Given the description of an element on the screen output the (x, y) to click on. 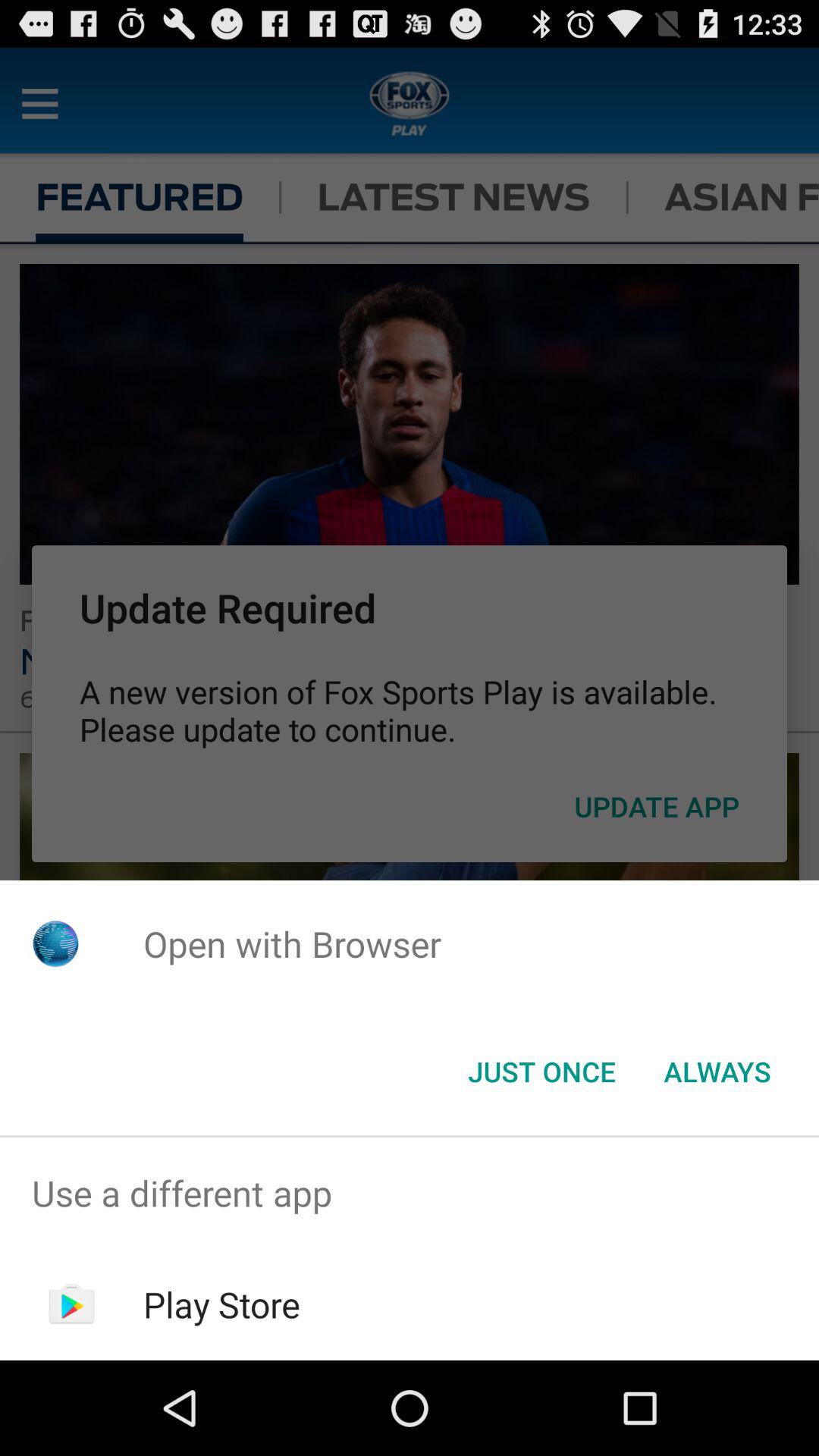
launch the icon above the play store app (409, 1192)
